Given the description of an element on the screen output the (x, y) to click on. 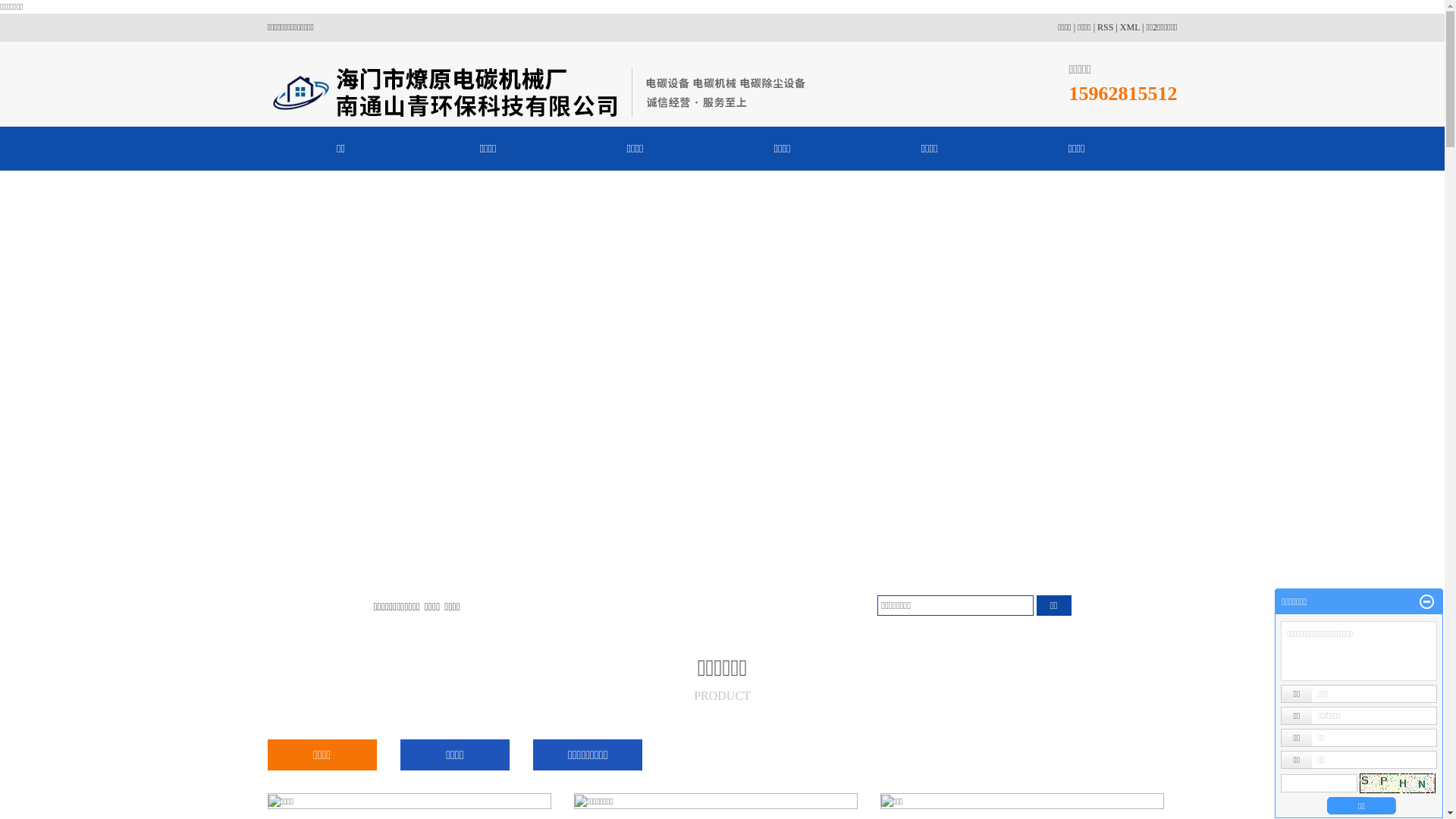
XML Element type: text (1129, 26)
RSS Element type: text (1105, 26)
